Given the description of an element on the screen output the (x, y) to click on. 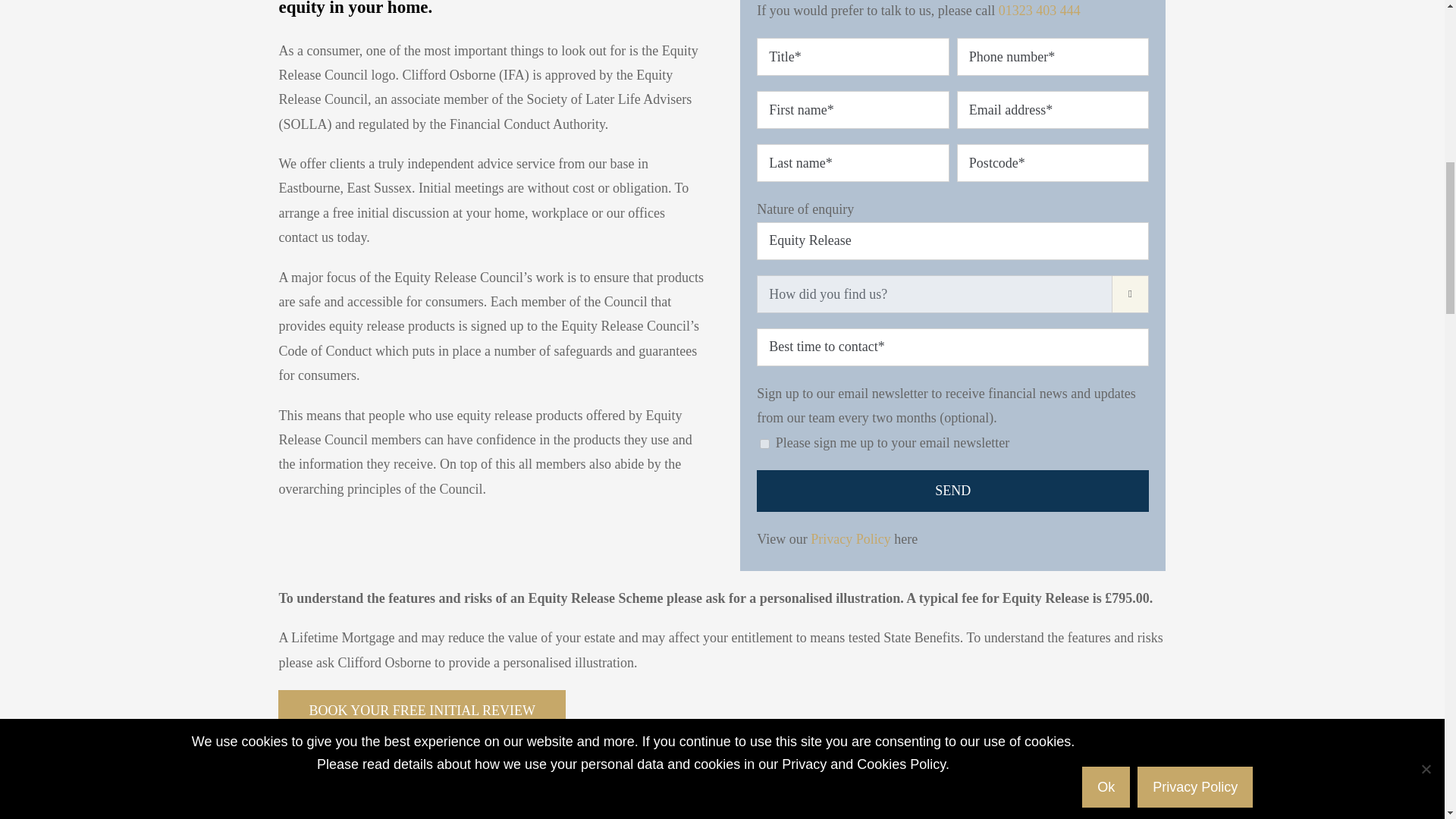
Equity Release (952, 240)
Send (952, 490)
Please sign me up to your email newsletter (765, 443)
